Given the description of an element on the screen output the (x, y) to click on. 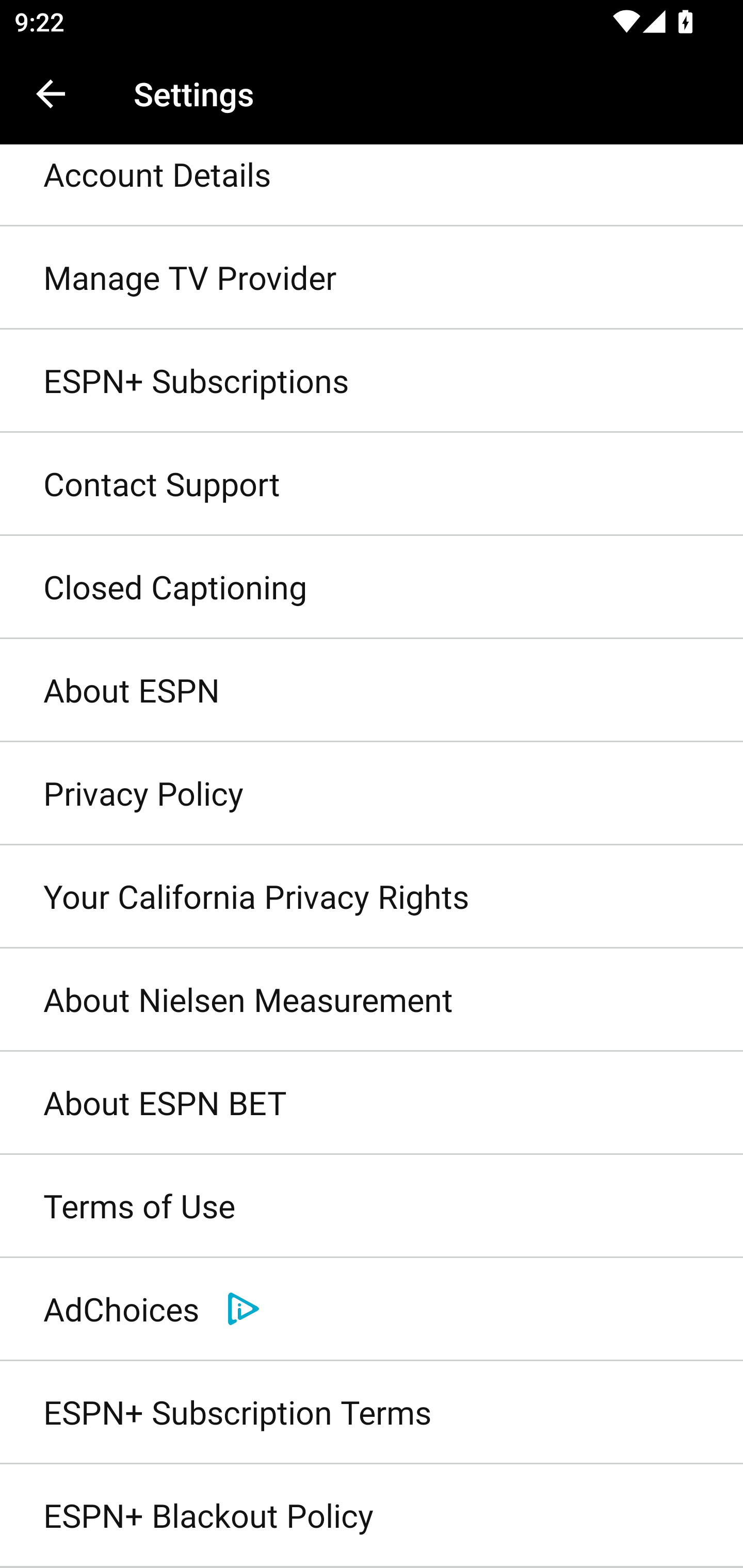
Navigate up (50, 93)
Account Details (371, 185)
Manage TV Provider (371, 277)
ESPN+ Subscriptions (371, 380)
Contact Support (371, 484)
Closed Captioning (371, 587)
About ESPN (371, 691)
Privacy Policy (371, 793)
Your California Privacy Rights (371, 896)
About Nielsen Measurement (371, 1000)
About ESPN BET (371, 1103)
Terms of Use (371, 1207)
AdChoices (371, 1309)
ESPN+ Subscription Terms (371, 1412)
ESPN+ Blackout Policy (371, 1516)
